Given the description of an element on the screen output the (x, y) to click on. 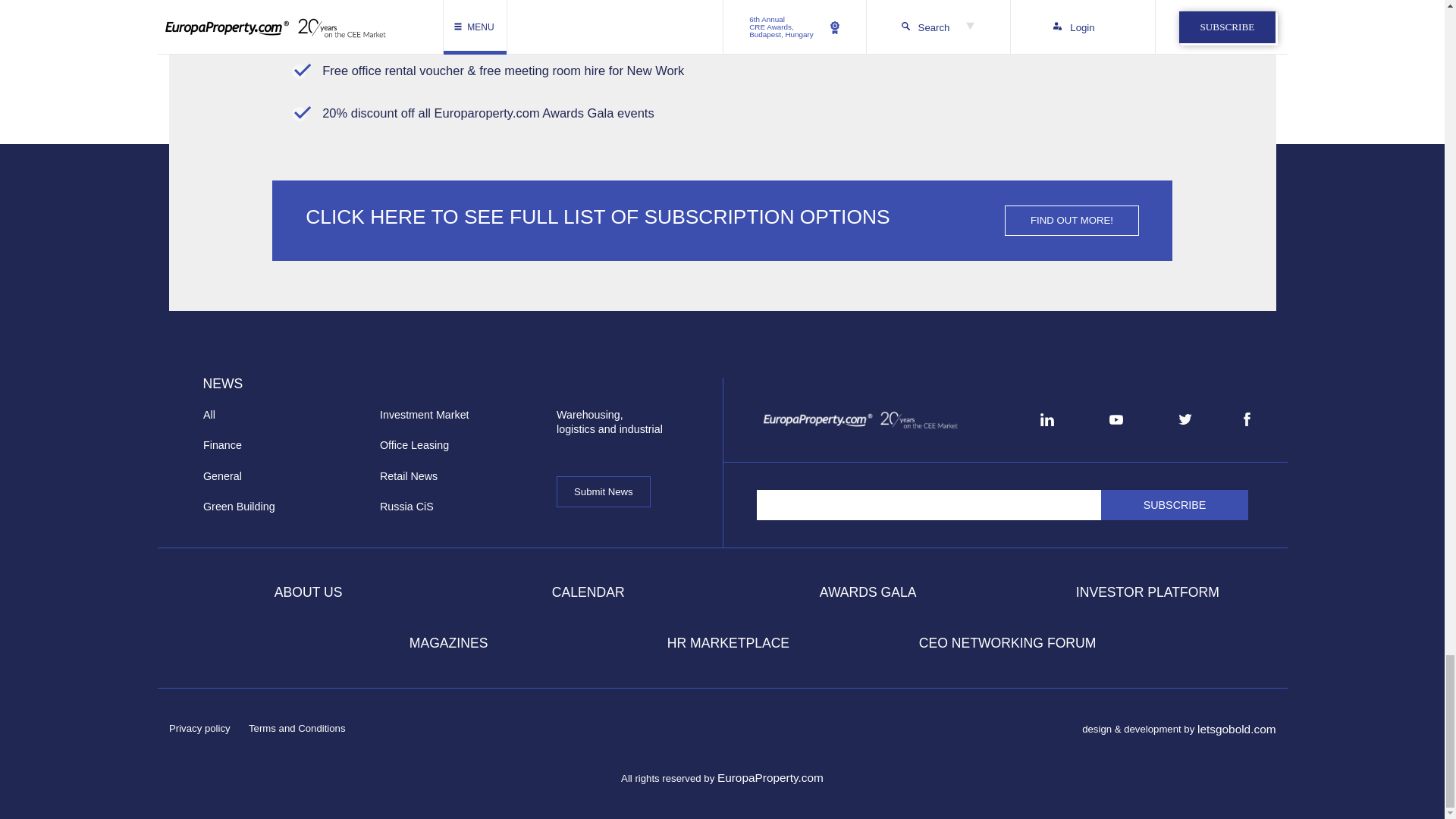
Subscribe (1174, 504)
Twitter (1184, 418)
YouTube (1116, 419)
LinkedIn (1047, 419)
